Given the description of an element on the screen output the (x, y) to click on. 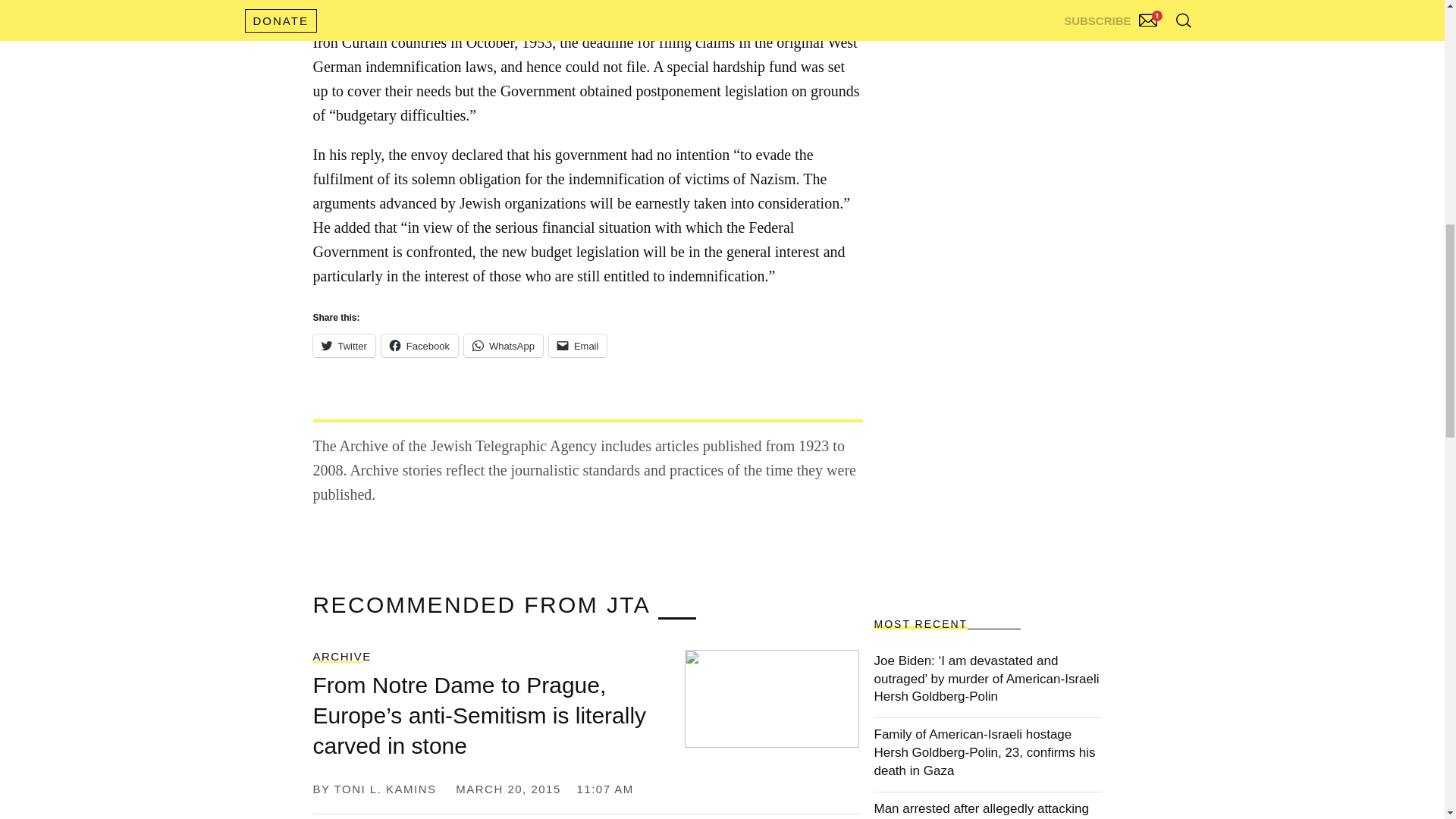
Click to share on Twitter (343, 345)
Click to share on Facebook (419, 345)
Click to share on WhatsApp (503, 345)
Click to email a link to a friend (577, 345)
